Given the description of an element on the screen output the (x, y) to click on. 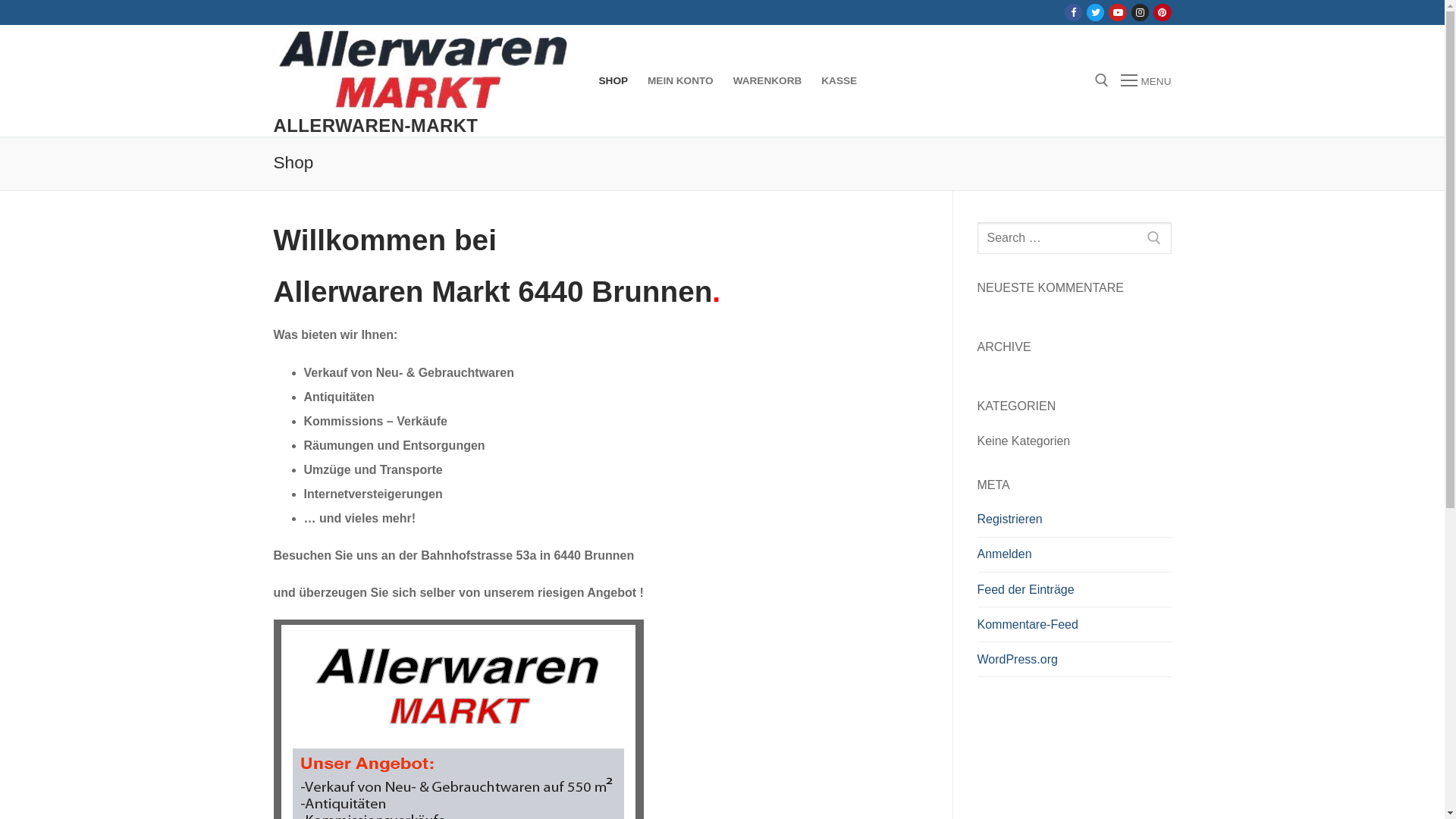
WordPress.org Element type: text (1073, 663)
MEIN KONTO Element type: text (680, 80)
Pinterest Element type: hover (1162, 12)
ALLERWAREN-MARKT Element type: text (375, 125)
Instagram Element type: hover (1140, 12)
Anmelden Element type: text (1073, 557)
Facebook Element type: hover (1073, 12)
SHOP Element type: text (612, 80)
MENU Element type: text (1145, 81)
WARENKORB Element type: text (767, 80)
Registrieren Element type: text (1073, 522)
Twitter Element type: hover (1095, 12)
Youtube Element type: hover (1118, 12)
Kommentare-Feed Element type: text (1073, 628)
KASSE Element type: text (838, 80)
Suchen nach: Element type: hover (1073, 238)
